Given the description of an element on the screen output the (x, y) to click on. 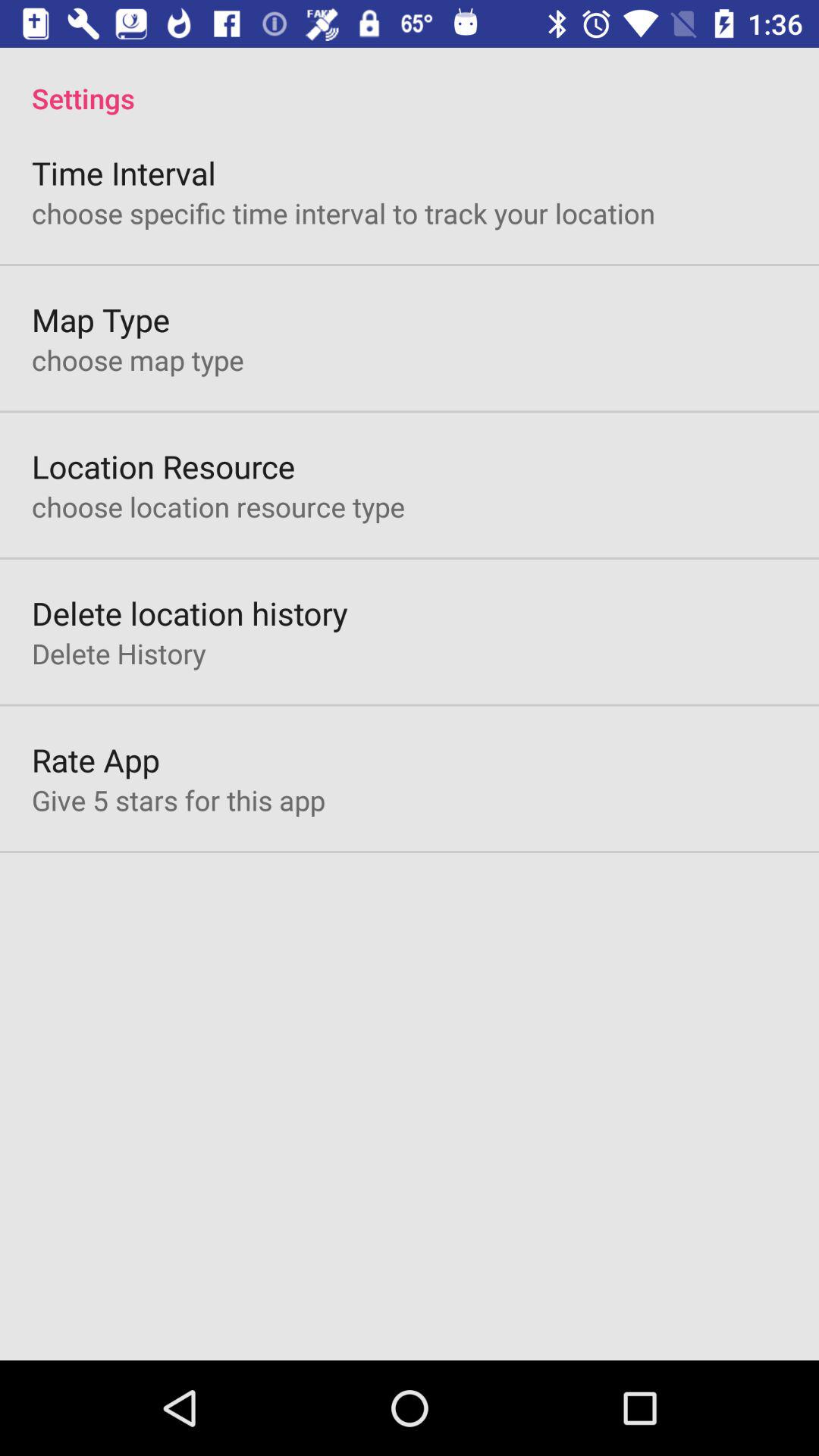
tap the app below rate app (178, 800)
